Given the description of an element on the screen output the (x, y) to click on. 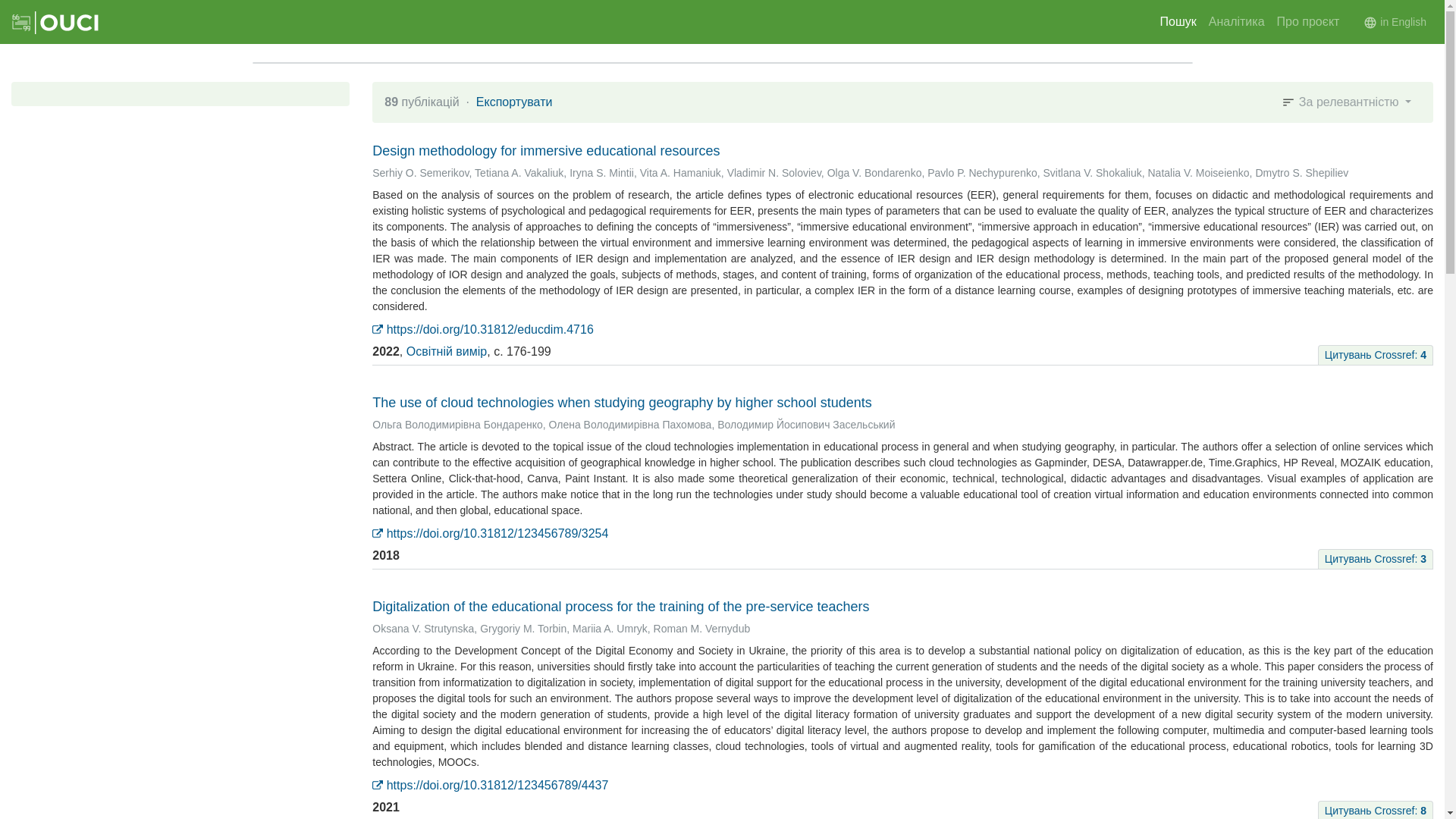
Design methodology for immersive educational resources (545, 150)
in English (1394, 22)
